Given the description of an element on the screen output the (x, y) to click on. 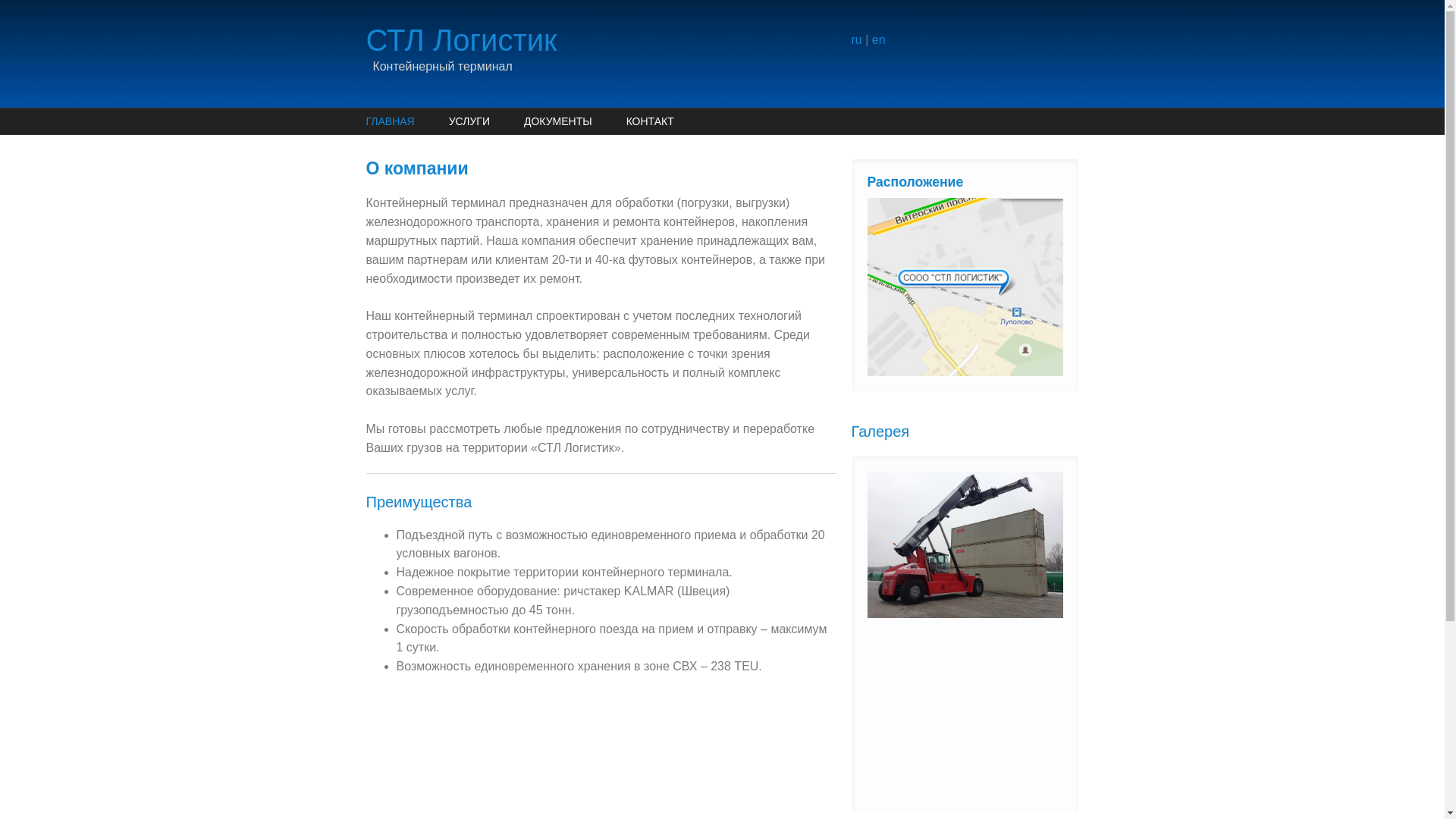
en Element type: text (878, 39)
ru Element type: text (855, 39)
